Given the description of an element on the screen output the (x, y) to click on. 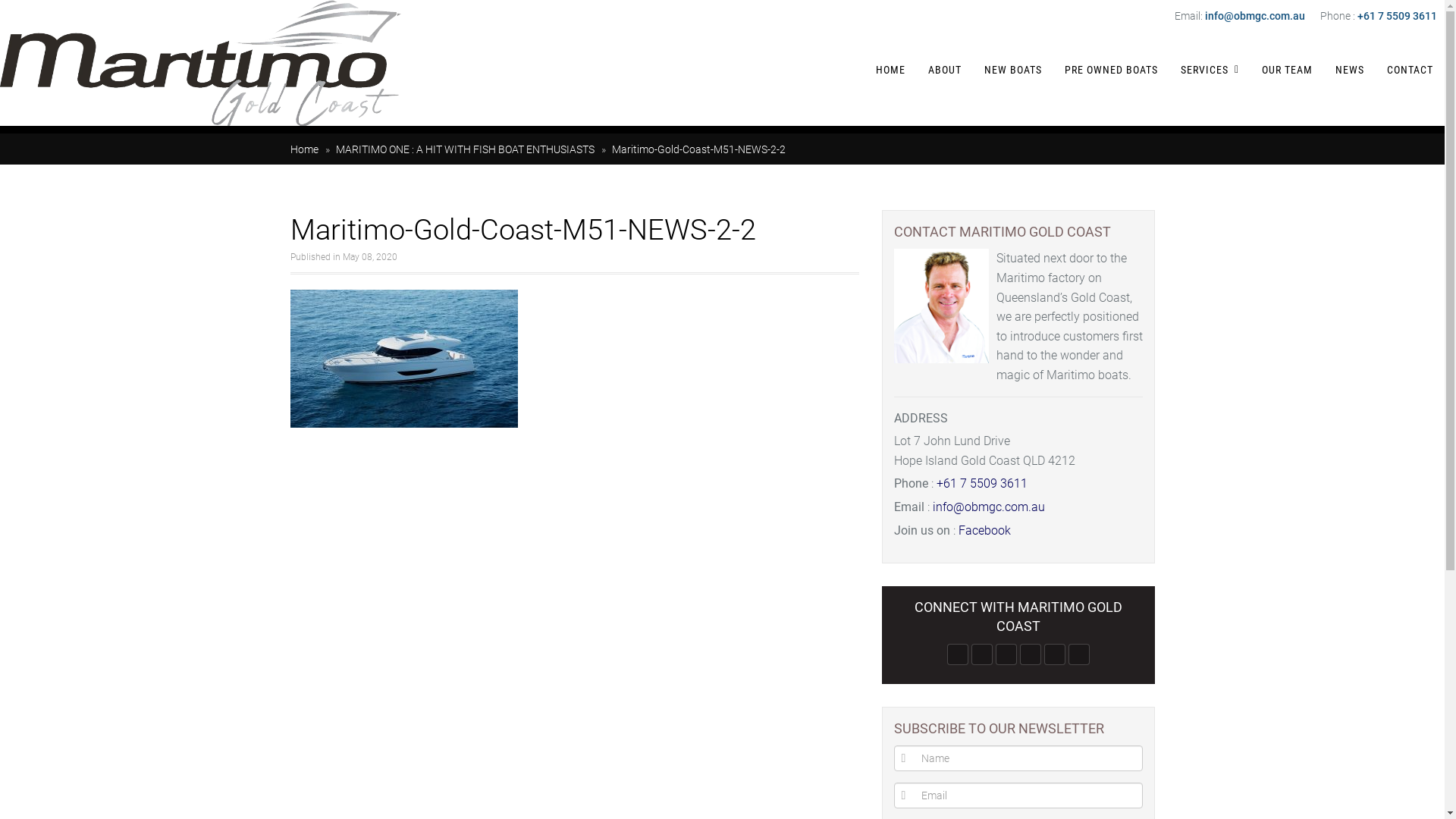
CONTACT Element type: text (1409, 69)
MARITIMO ONE : A HIT WITH FISH BOAT ENTHUSIASTS Element type: text (464, 149)
Facebook Element type: text (984, 530)
PRE OWNED BOATS Element type: text (1111, 69)
+61 7 5509 3611 Element type: text (1397, 15)
NEW BOATS Element type: text (1012, 69)
info@obmgc.com.au Element type: text (1254, 15)
HOME Element type: text (890, 69)
OUR TEAM Element type: text (1287, 69)
+61 7 5509 3611 Element type: text (980, 483)
info@obmgc.com.au Element type: text (988, 506)
SERVICES Element type: text (1199, 69)
ABOUT Element type: text (944, 69)
NEWS Element type: text (1349, 69)
Home Element type: text (303, 149)
